Given the description of an element on the screen output the (x, y) to click on. 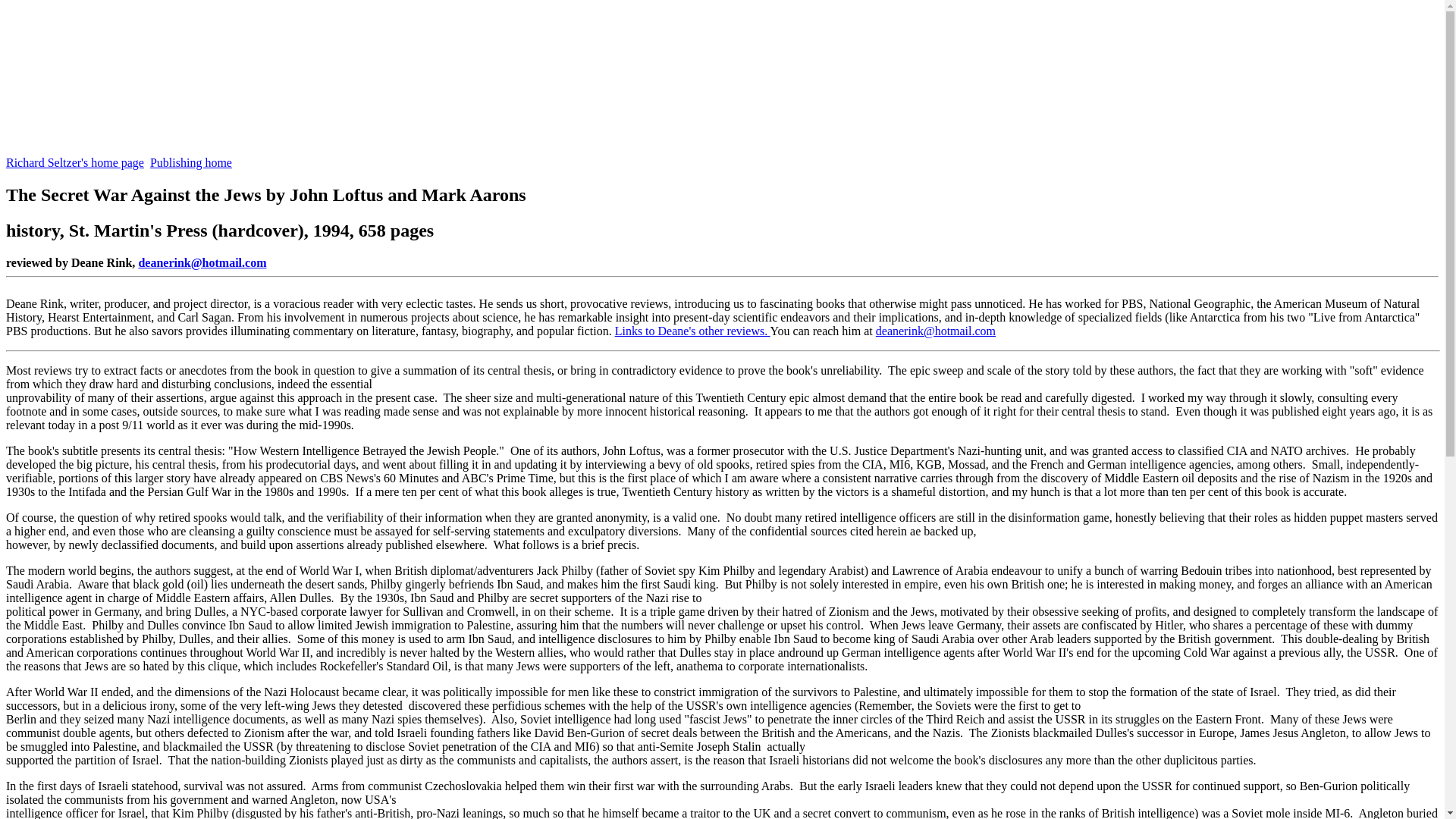
Richard Seltzer's home page (74, 162)
Links to Deane's other reviews. (692, 330)
Advertisement (281, 121)
Publishing home (190, 162)
Advertisement (281, 53)
